Given the description of an element on the screen output the (x, y) to click on. 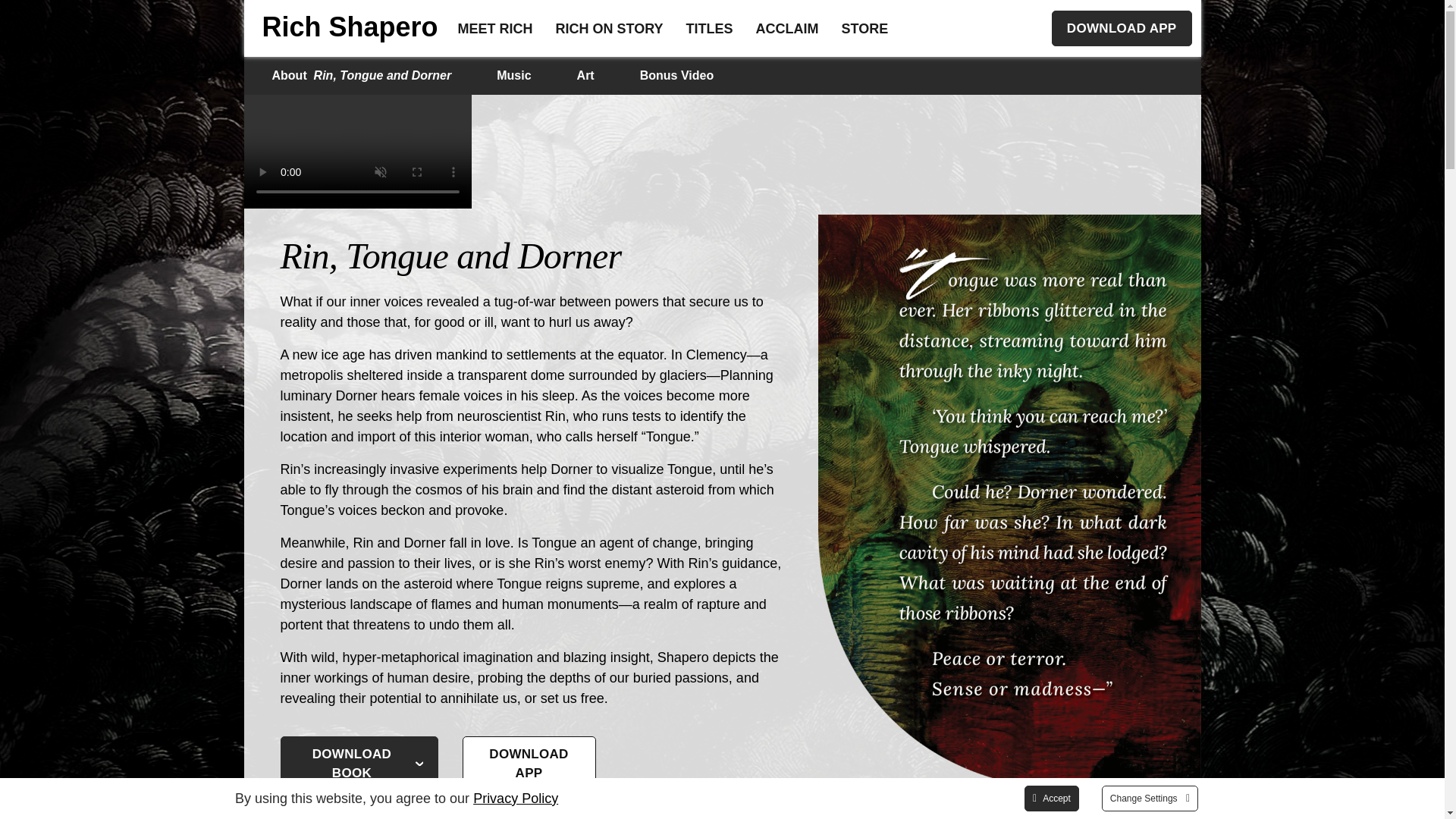
DOWNLOAD APP (1121, 27)
STORE (865, 27)
Bonus Video (676, 75)
DOWNLOAD APP (361, 75)
ACCLAIM (529, 763)
Rich Shapero (787, 27)
Music (342, 26)
RICH ON STORY (512, 75)
TITLES (609, 27)
MEET RICH (709, 27)
Skip to main content (494, 27)
Art (359, 763)
